Given the description of an element on the screen output the (x, y) to click on. 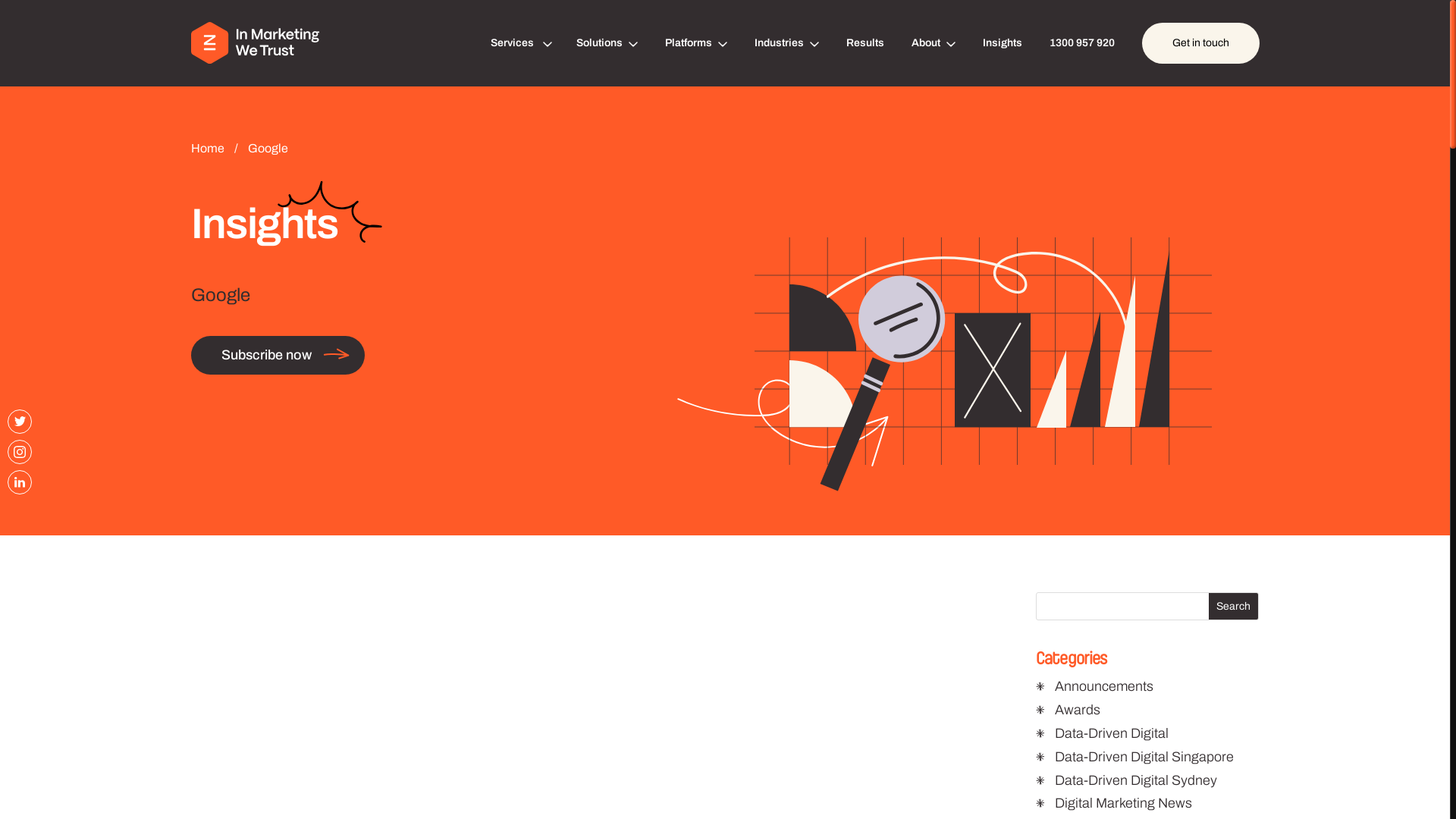
Data-Driven Digital Singapore Element type: text (1143, 756)
1300 957 920 Element type: text (1081, 43)
Results Element type: text (865, 43)
Get in touch Element type: text (1200, 42)
Search Element type: text (1233, 606)
Data-Driven Digital Element type: text (1111, 733)
Solutions Element type: text (606, 43)
Services Element type: text (518, 43)
Platforms Element type: text (695, 43)
About Element type: text (933, 43)
Insights Element type: text (1002, 43)
Industries Element type: text (785, 43)
Announcements Element type: text (1103, 686)
Home Element type: text (209, 147)
Digital Marketing News Element type: text (1123, 802)
Subscribe now Element type: text (277, 354)
Awards Element type: text (1077, 709)
Group 48100696 (1) Element type: hover (982, 371)
Data-Driven Digital Sydney Element type: text (1135, 780)
